Given the description of an element on the screen output the (x, y) to click on. 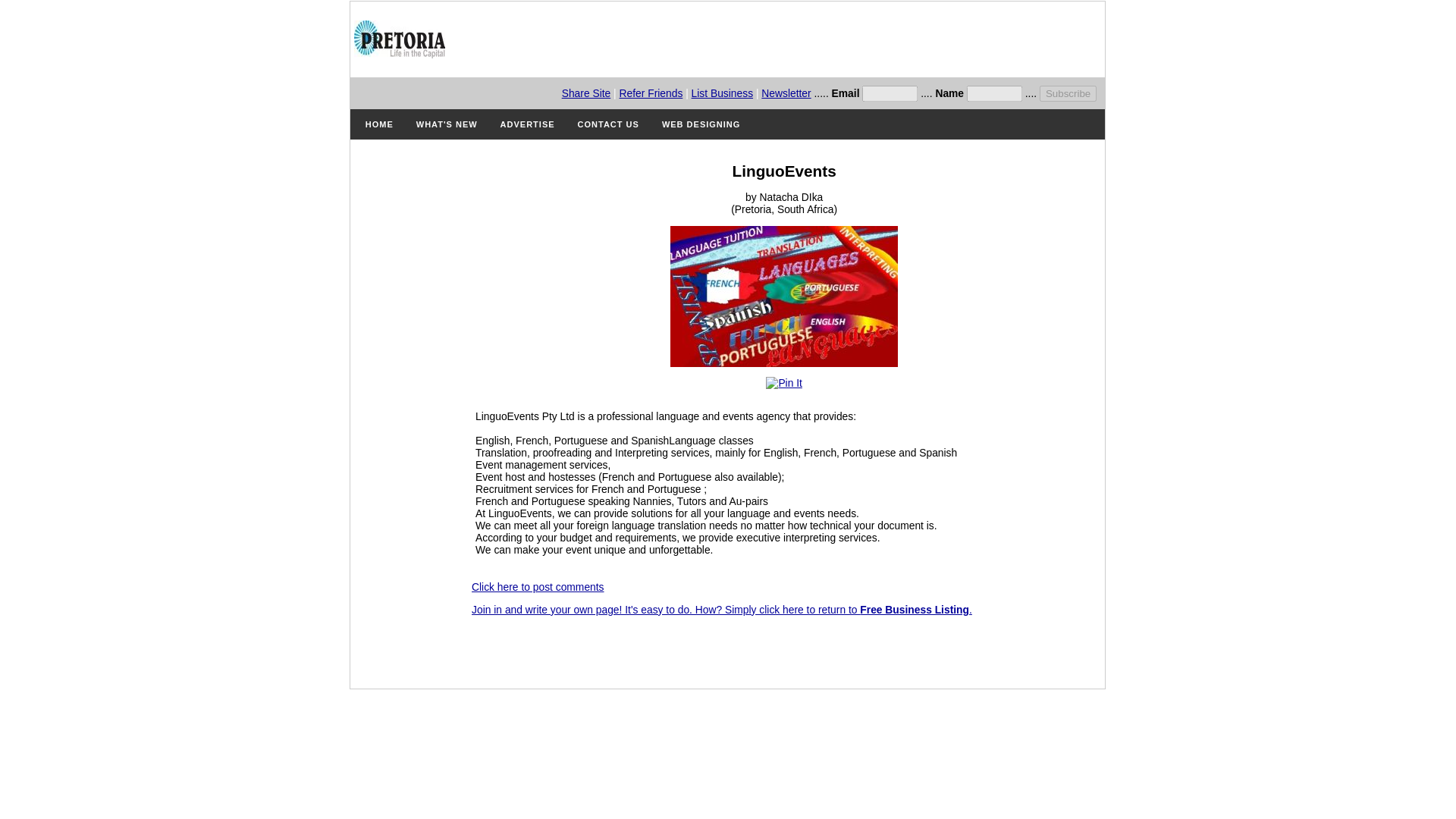
ADVERTISE (527, 124)
Click here to post comments (537, 586)
Pin It (783, 382)
Share Site (586, 92)
Newsletter (785, 92)
WEB DESIGNING (700, 124)
Refer Friends (651, 92)
WHAT'S NEW (446, 124)
HOME (378, 124)
